Given the description of an element on the screen output the (x, y) to click on. 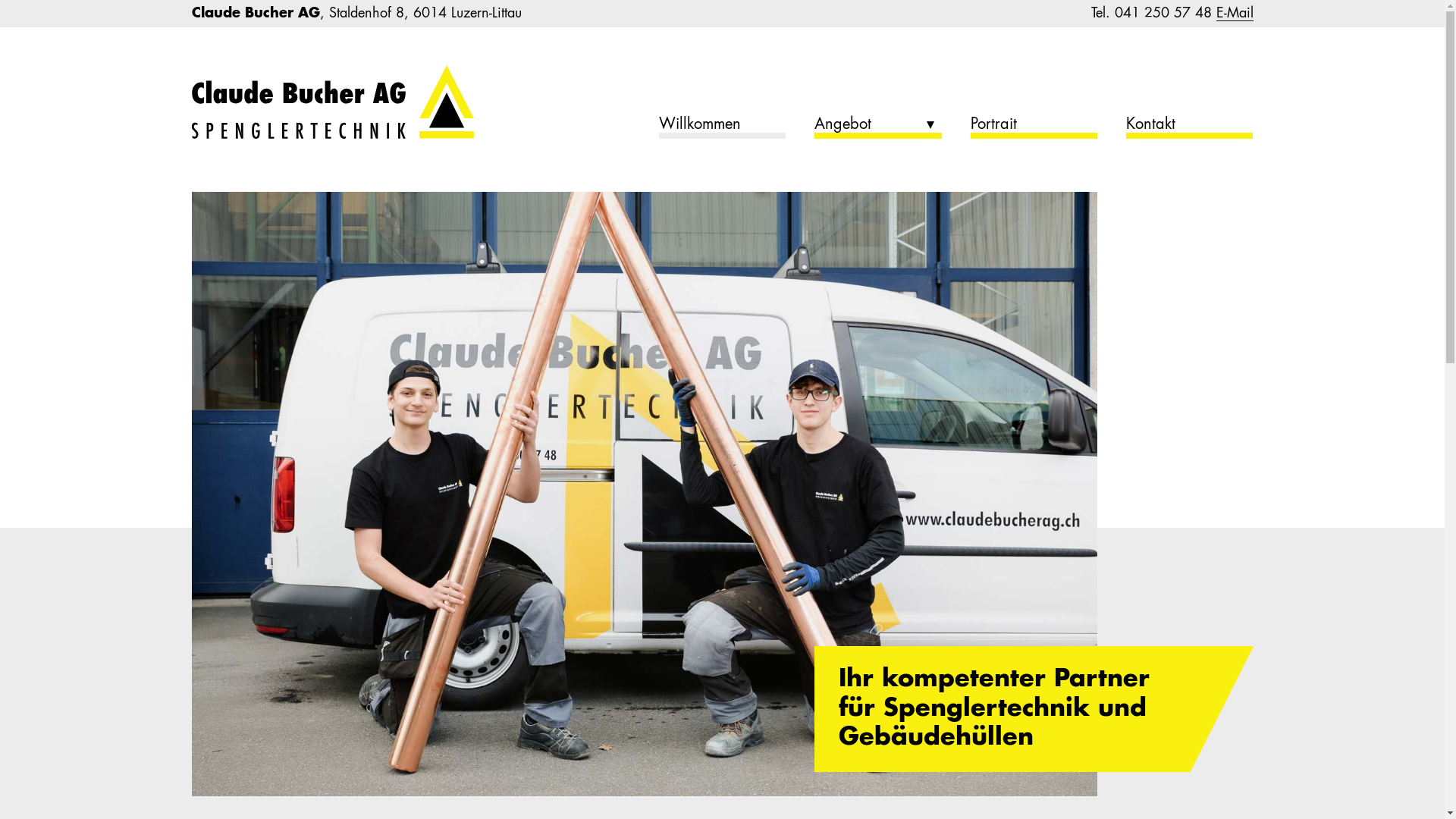
Angebot Element type: text (877, 127)
Willkommen Element type: text (721, 127)
Kontakt Element type: text (1189, 127)
041 250 57 48 Element type: text (1162, 13)
E-Mail Element type: text (1234, 13)
Portrait Element type: text (1033, 127)
